Given the description of an element on the screen output the (x, y) to click on. 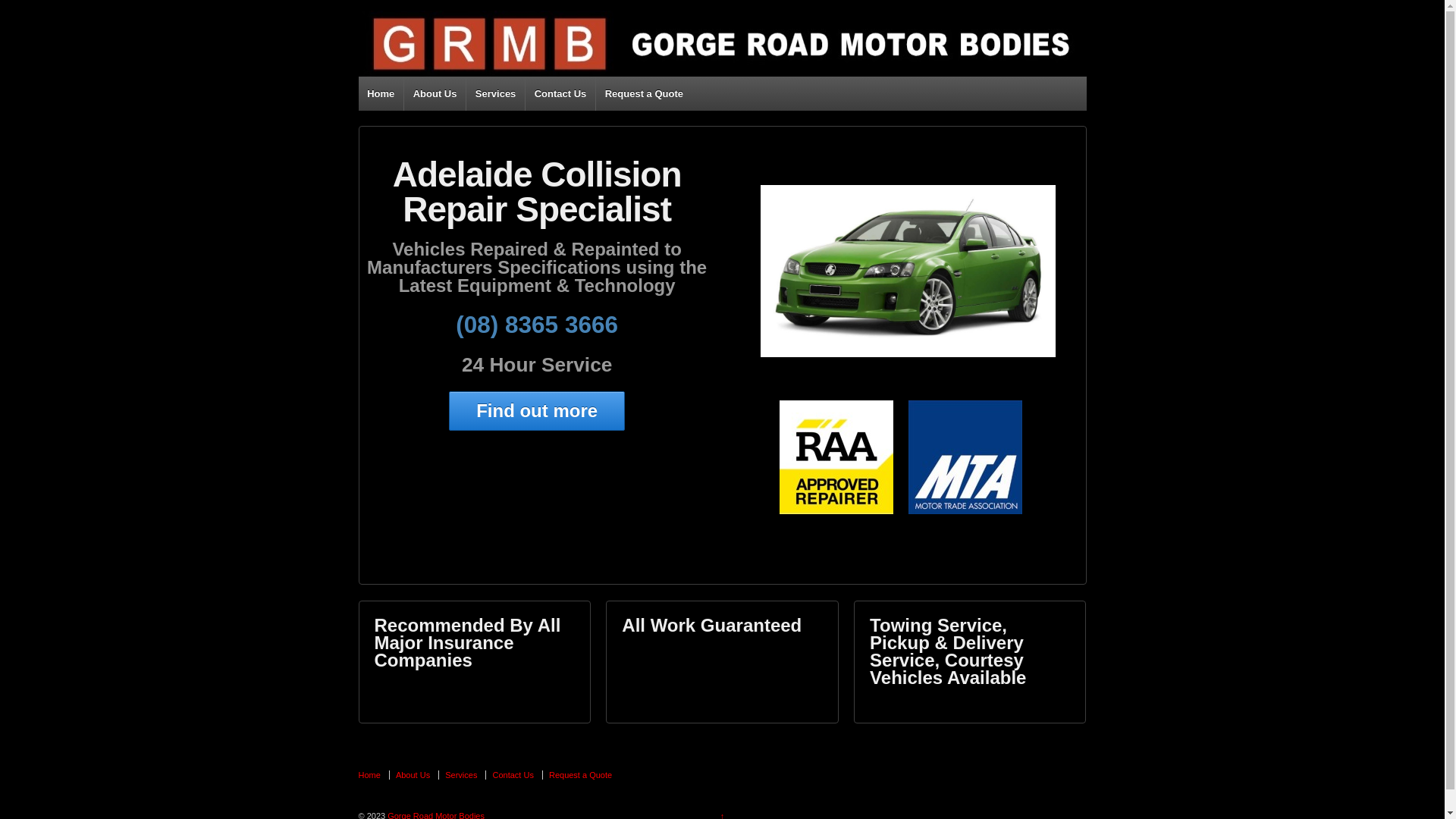
About Us Element type: text (434, 93)
Home Element type: text (371, 774)
Services Element type: text (460, 774)
Home Element type: text (380, 93)
About Us Element type: text (412, 774)
Contact Us Element type: text (559, 93)
Find out more Element type: text (536, 410)
Request a Quote Element type: text (580, 774)
Request a Quote Element type: text (643, 93)
Contact Us Element type: text (512, 774)
Services Element type: text (494, 93)
